Given the description of an element on the screen output the (x, y) to click on. 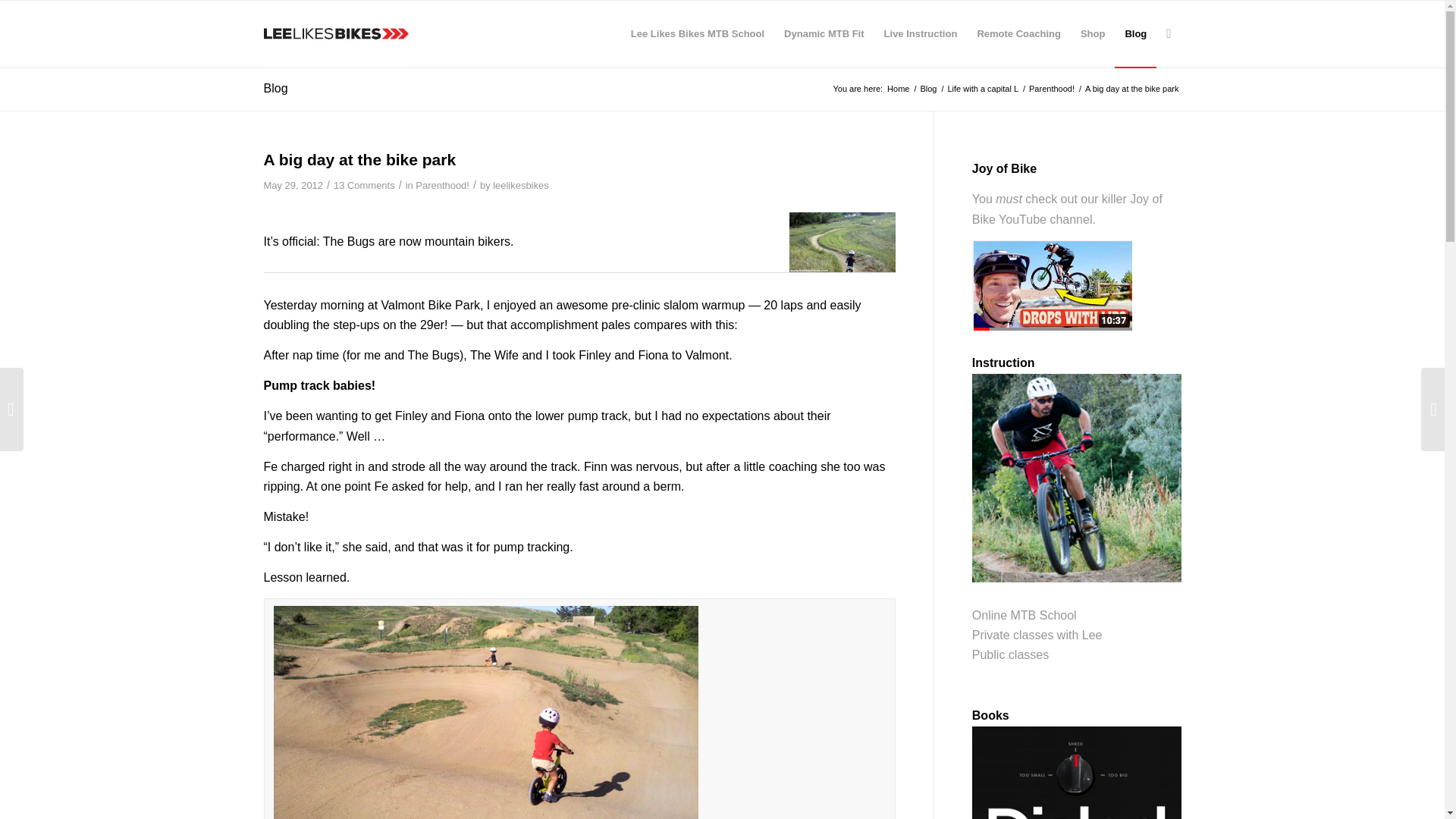
leelikesbikeslogoheader (336, 33)
Blog (928, 89)
Posts by leelikesbikes (520, 184)
Blog (275, 88)
Lee Likes Bikes MTB School (697, 33)
Joy of Bike (1066, 208)
13 Comments (363, 184)
Live Instruction (921, 33)
Blog (928, 89)
Parenthood! (441, 184)
Parenthood! (1051, 89)
Dynamic MTB Fit (823, 33)
Private classes with Lee (1037, 634)
Lee Likes Bikes (898, 89)
leelikesbikes (520, 184)
